Given the description of an element on the screen output the (x, y) to click on. 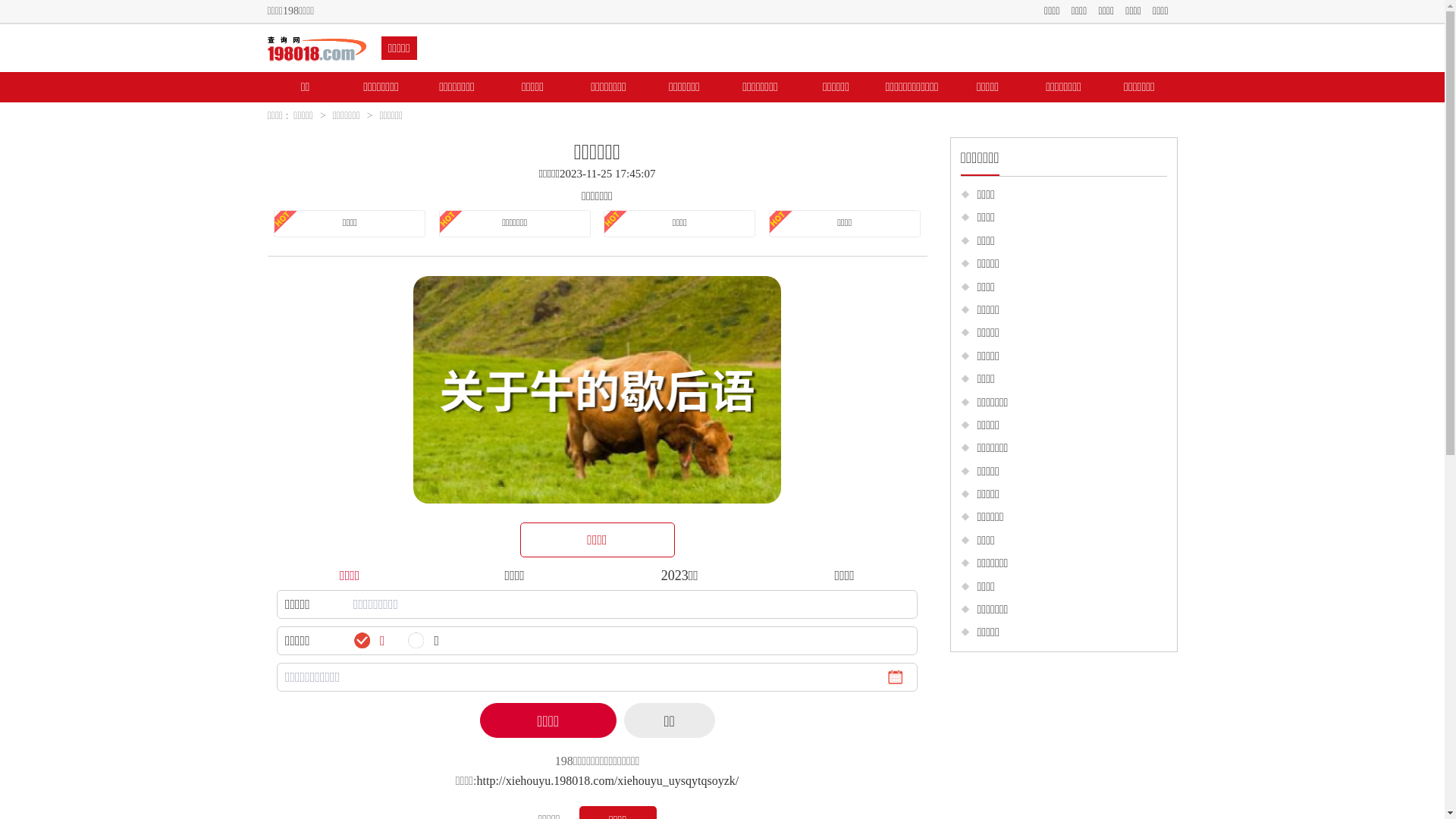
http://xiehouyu.198018.com/xiehouyu_uysqytqsoyzk/ Element type: text (607, 780)
